Given the description of an element on the screen output the (x, y) to click on. 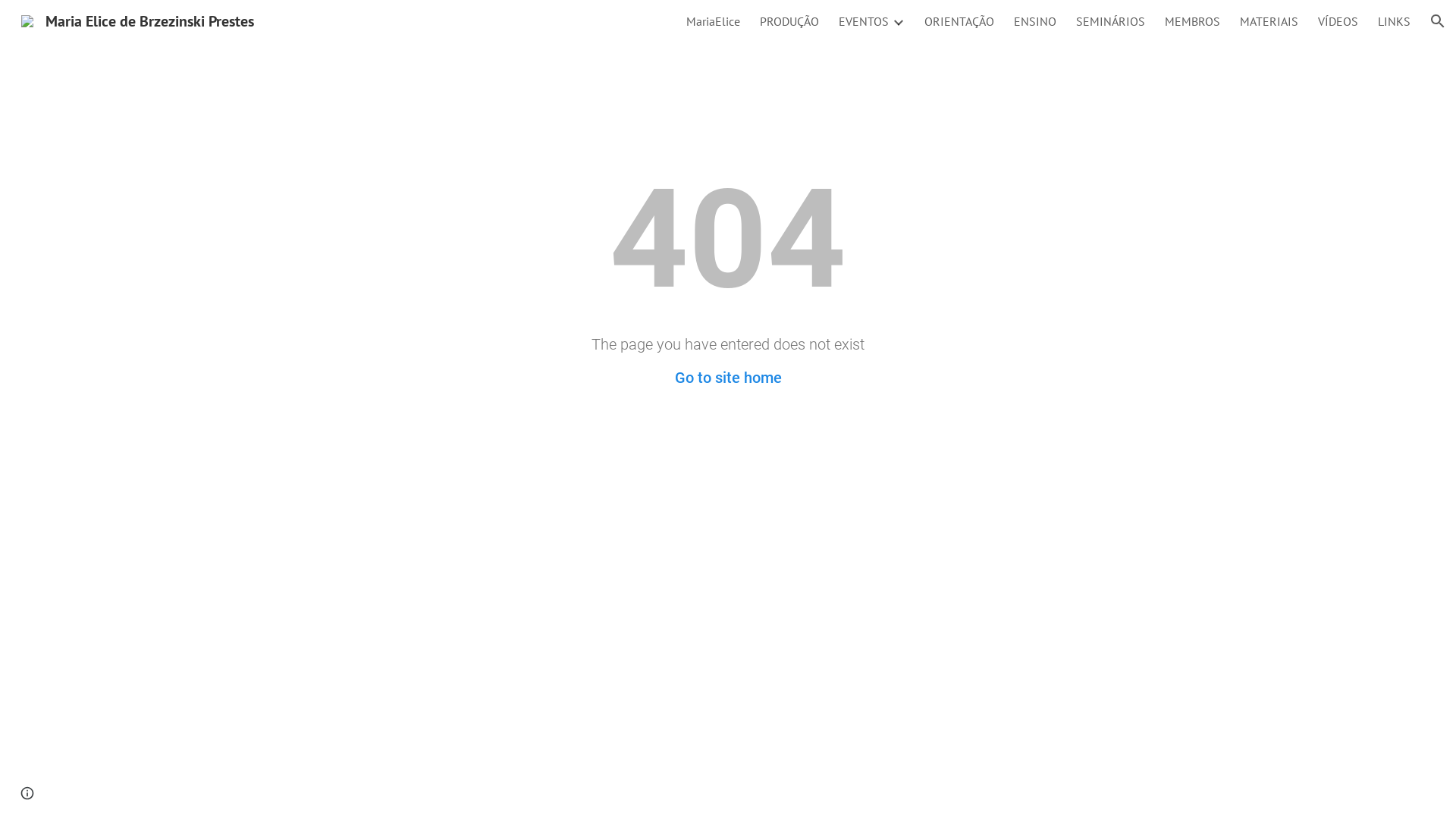
MariaElice Element type: text (713, 20)
Expand/Collapse Element type: hover (897, 20)
Maria Elice de Brzezinski Prestes Element type: text (137, 19)
MATERIAIS Element type: text (1268, 20)
ENSINO Element type: text (1034, 20)
LINKS Element type: text (1393, 20)
MEMBROS Element type: text (1192, 20)
EVENTOS Element type: text (863, 20)
Go to site home Element type: text (727, 377)
